Given the description of an element on the screen output the (x, y) to click on. 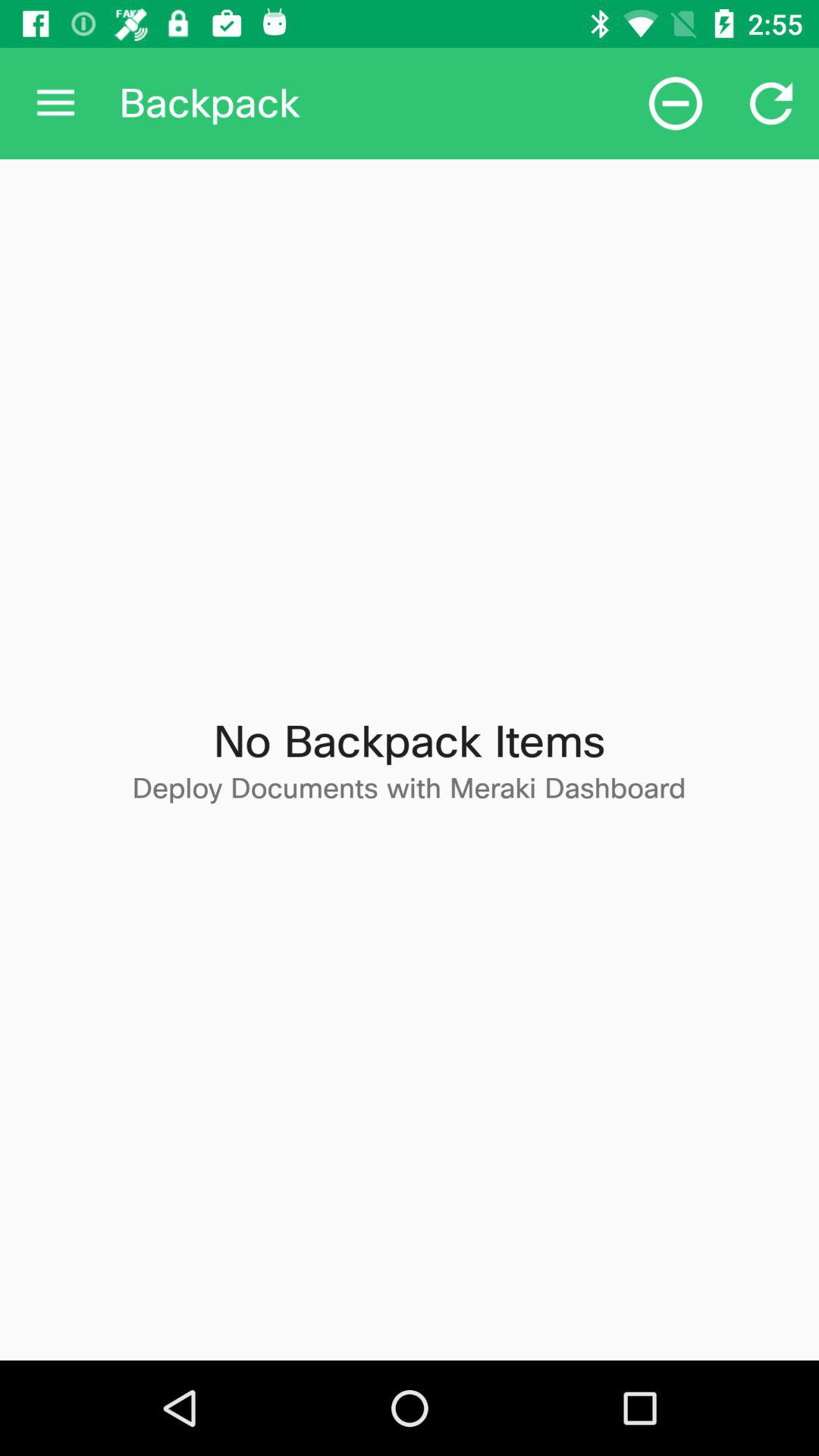
click app next to backpack icon (55, 103)
